Given the description of an element on the screen output the (x, y) to click on. 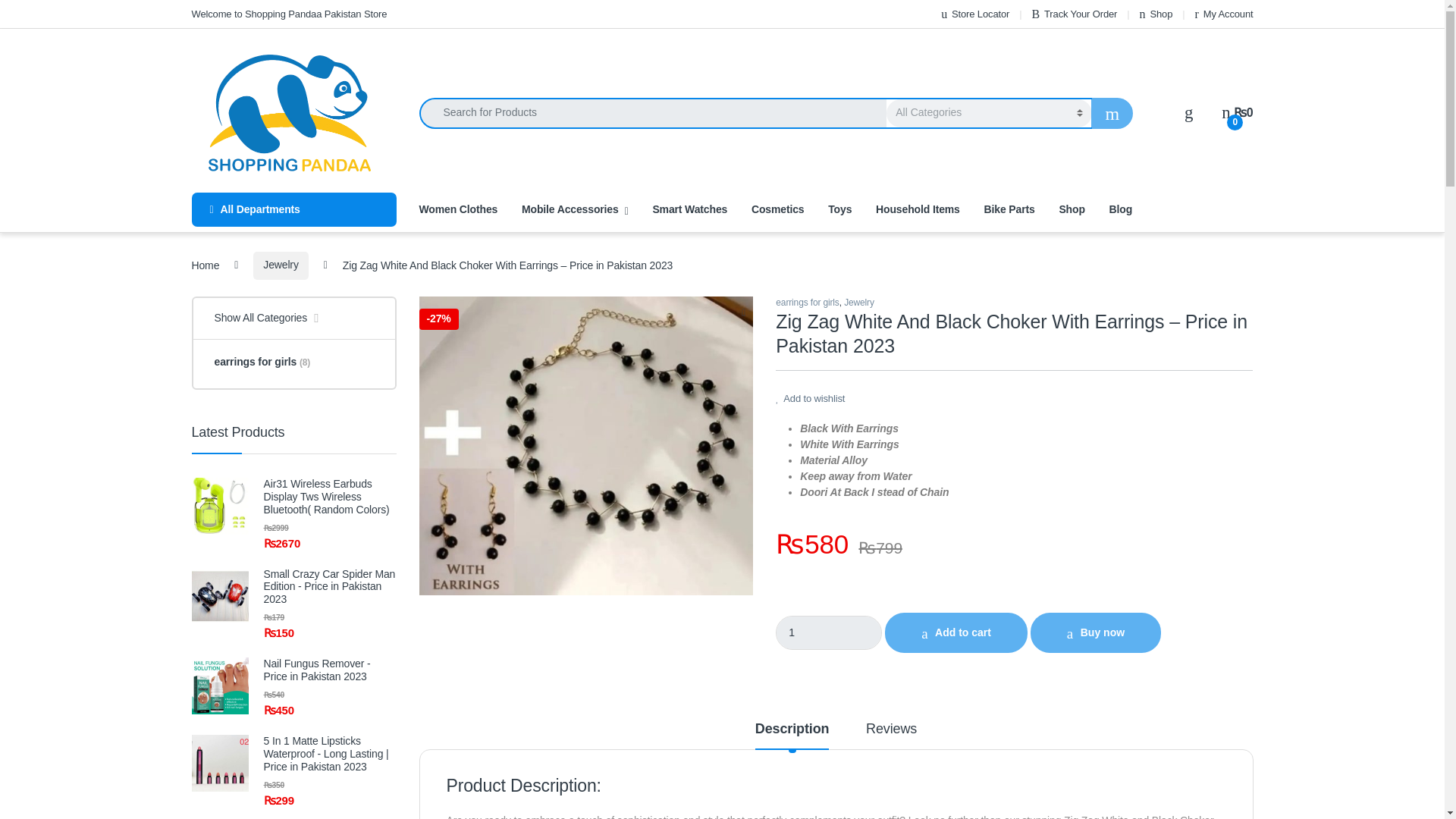
Mobile Accessories (574, 209)
Women Clothes (458, 209)
Welcome to Shopping Pandaa Pakistan Store (288, 13)
Welcome to Shopping Pandaa Pakistan Store (288, 13)
All Departments (293, 209)
Track Your Order (1073, 13)
Store Locator (974, 13)
Shop (1156, 13)
Track Your Order (1073, 13)
My Account (1224, 13)
